Given the description of an element on the screen output the (x, y) to click on. 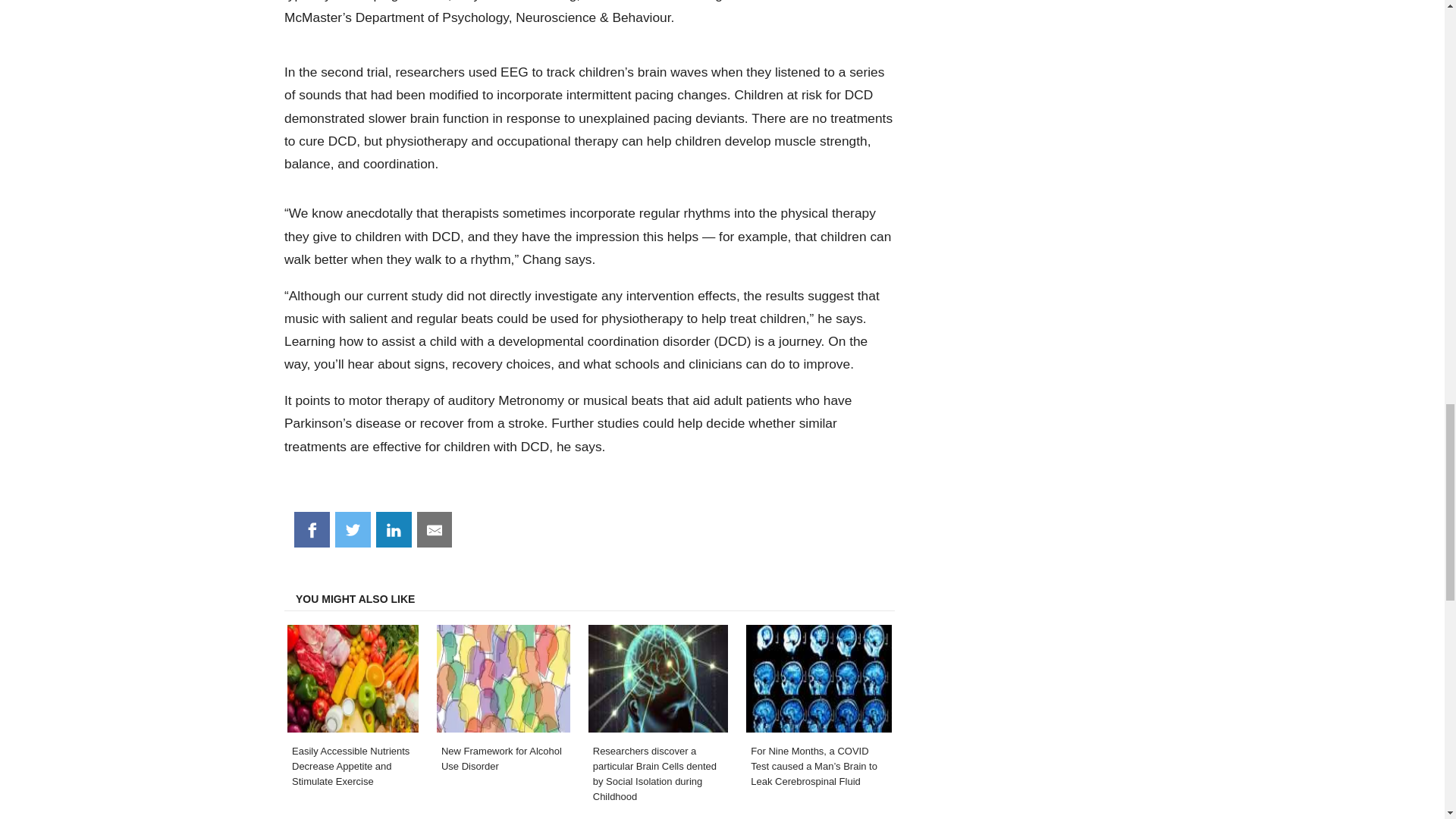
Share on Email (434, 529)
Share on LinkedIn (393, 529)
Tweet this ! (352, 529)
Share on Facebook (312, 529)
